Given the description of an element on the screen output the (x, y) to click on. 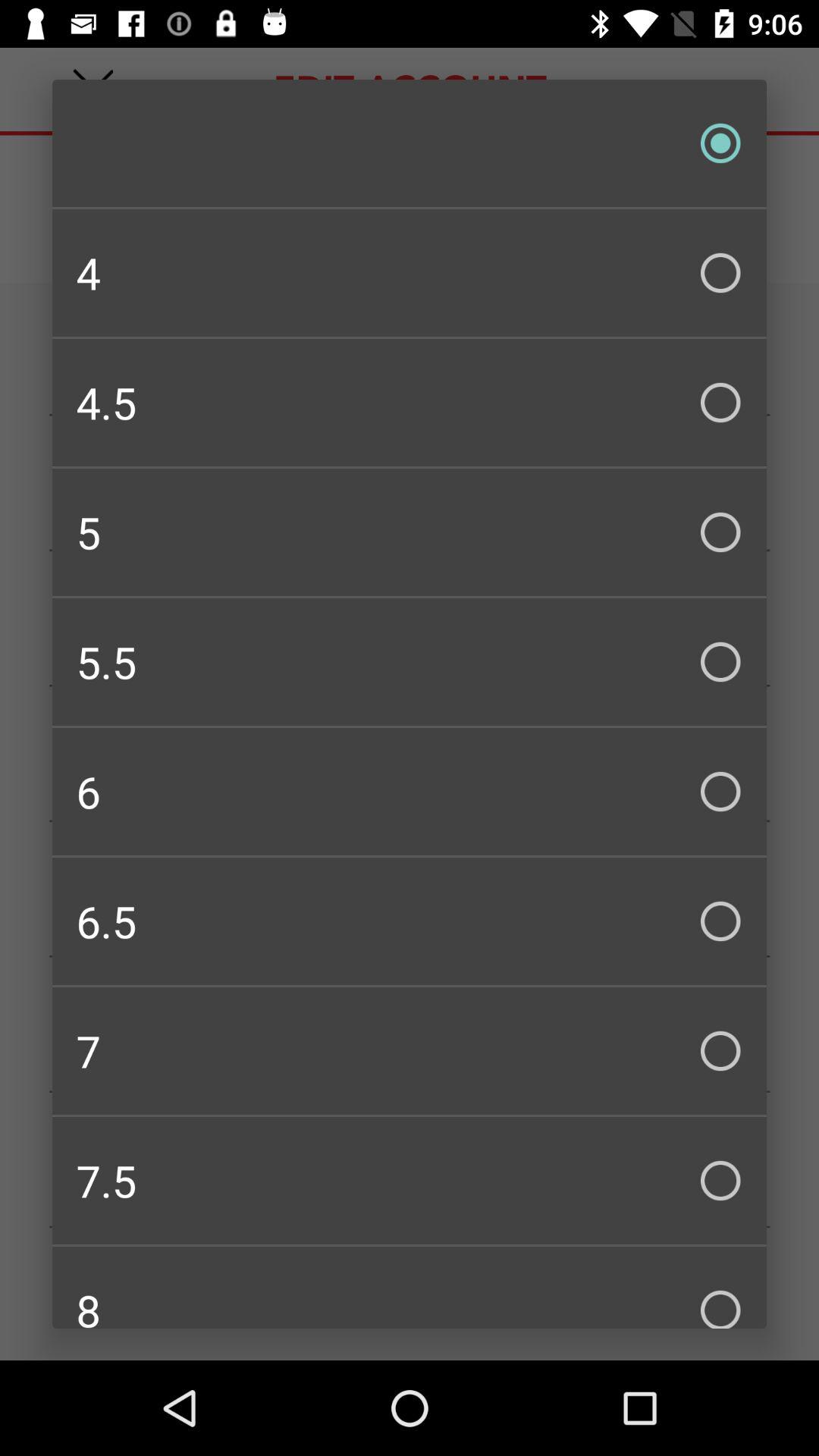
turn off checkbox above the 4 (409, 143)
